Given the description of an element on the screen output the (x, y) to click on. 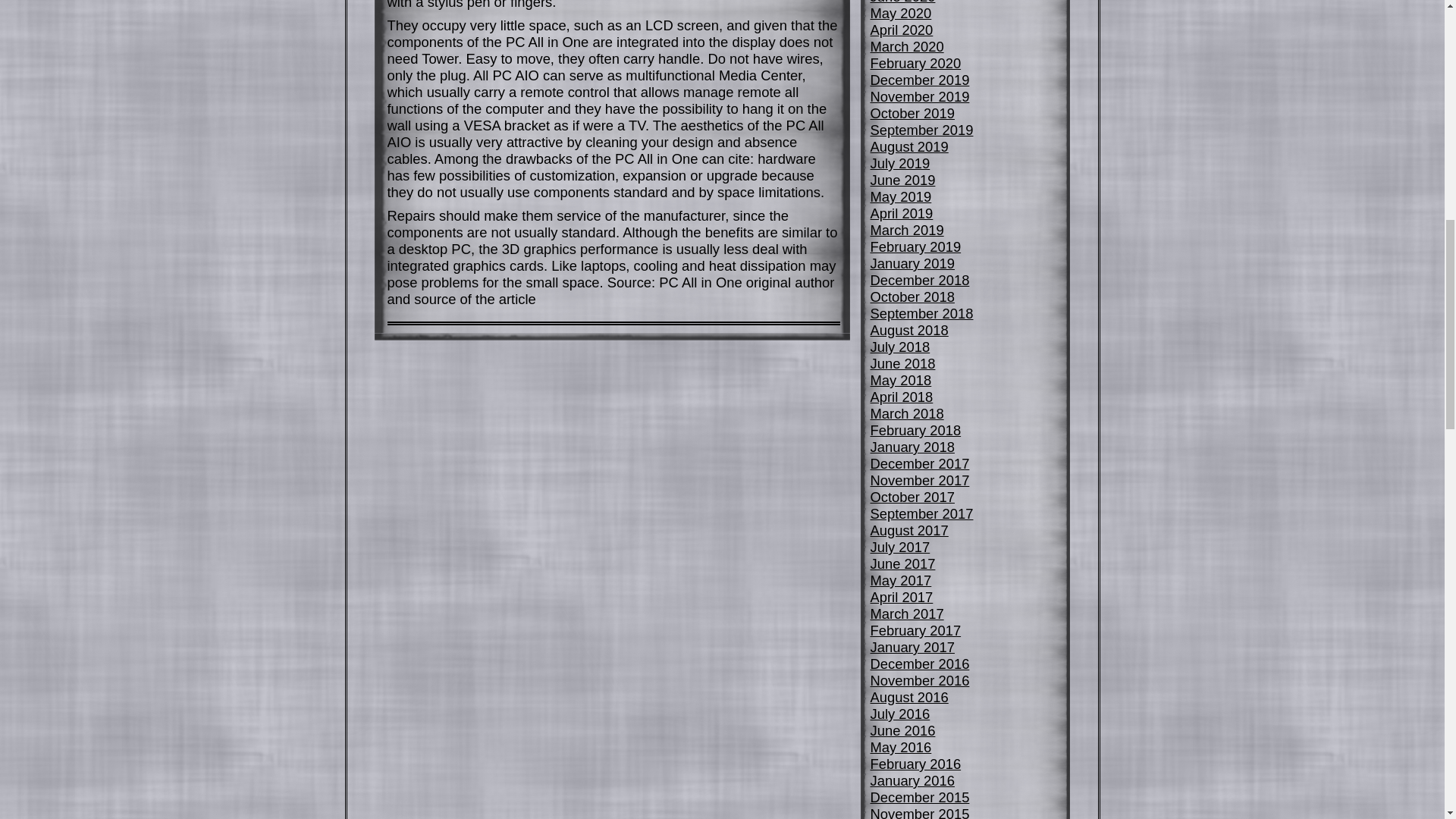
July 2019 (900, 163)
February 2019 (915, 246)
November 2019 (919, 96)
October 2019 (912, 113)
September 2019 (922, 130)
April 2020 (901, 29)
December 2019 (919, 79)
February 2020 (915, 63)
April 2019 (901, 213)
May 2020 (900, 12)
March 2020 (906, 46)
May 2019 (900, 196)
June 2020 (903, 2)
June 2019 (903, 179)
March 2019 (906, 229)
